Given the description of an element on the screen output the (x, y) to click on. 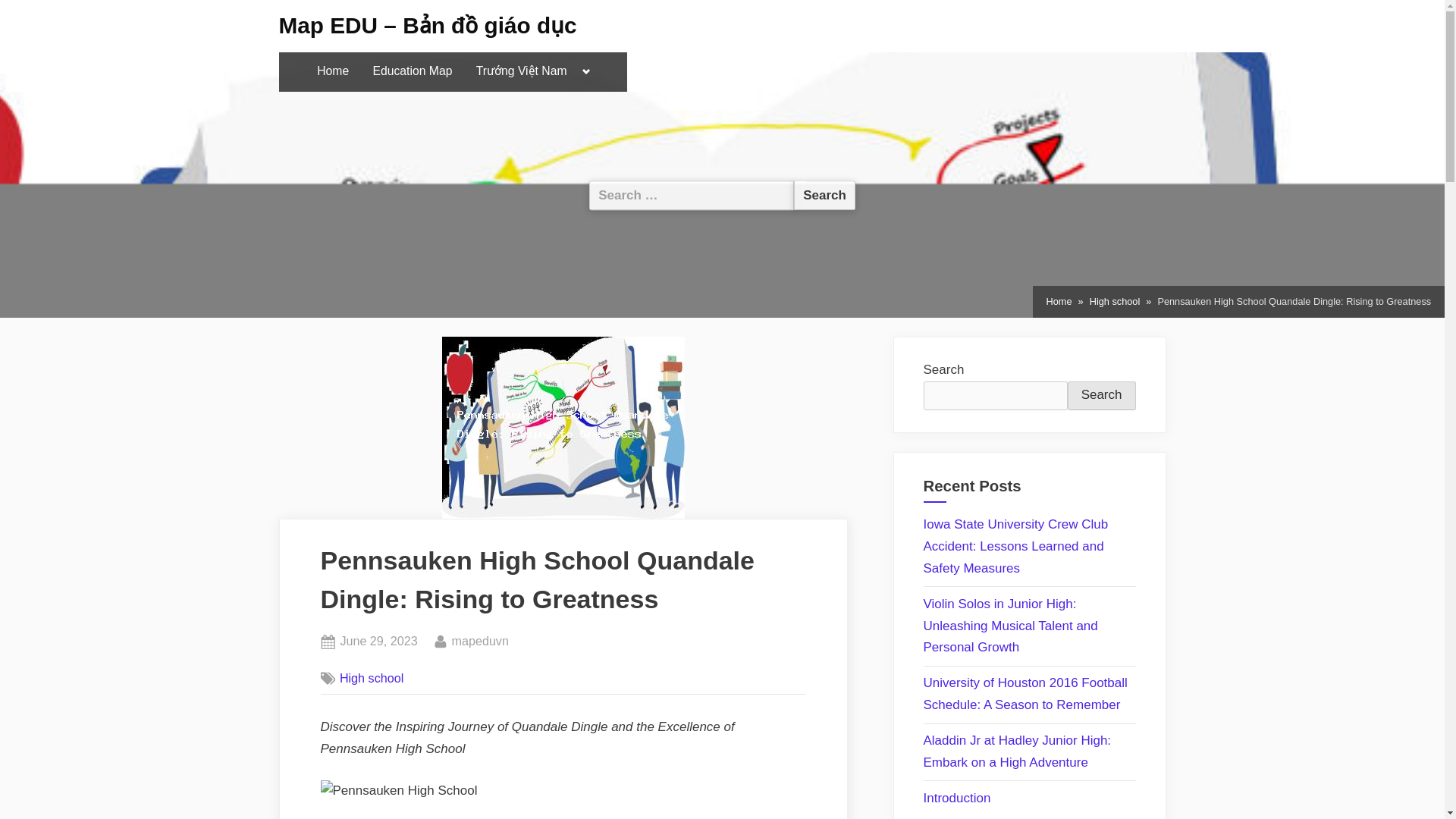
Search (1101, 395)
Aladdin Jr at Hadley Junior High: Embark on a High Adventure (1017, 751)
Search (824, 194)
Home (1058, 301)
Search (824, 194)
High school (377, 640)
Toggle sub-menu (1114, 301)
Home (479, 640)
Introduction (585, 71)
High school (332, 70)
